Given the description of an element on the screen output the (x, y) to click on. 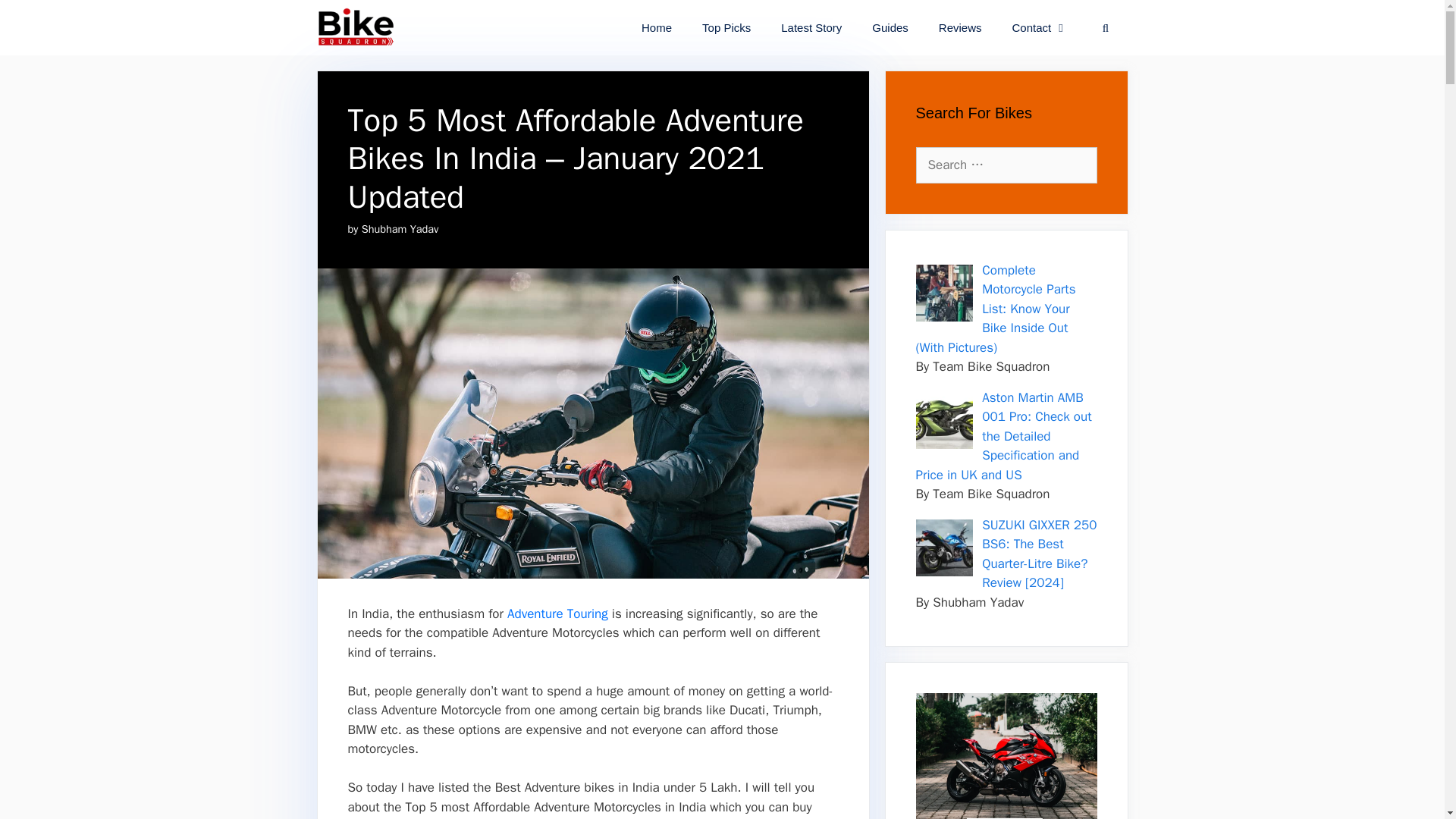
Search for: (1006, 165)
Search (33, 17)
Reviews (960, 26)
Adventure Touring (555, 613)
Bike Squadron (360, 27)
Latest Story (811, 26)
Bike Squadron (356, 27)
Shubham Yadav (400, 228)
Top Picks (726, 26)
Contact (1040, 26)
Home (656, 26)
Guides (890, 26)
View all posts by Shubham Yadav (400, 228)
